Given the description of an element on the screen output the (x, y) to click on. 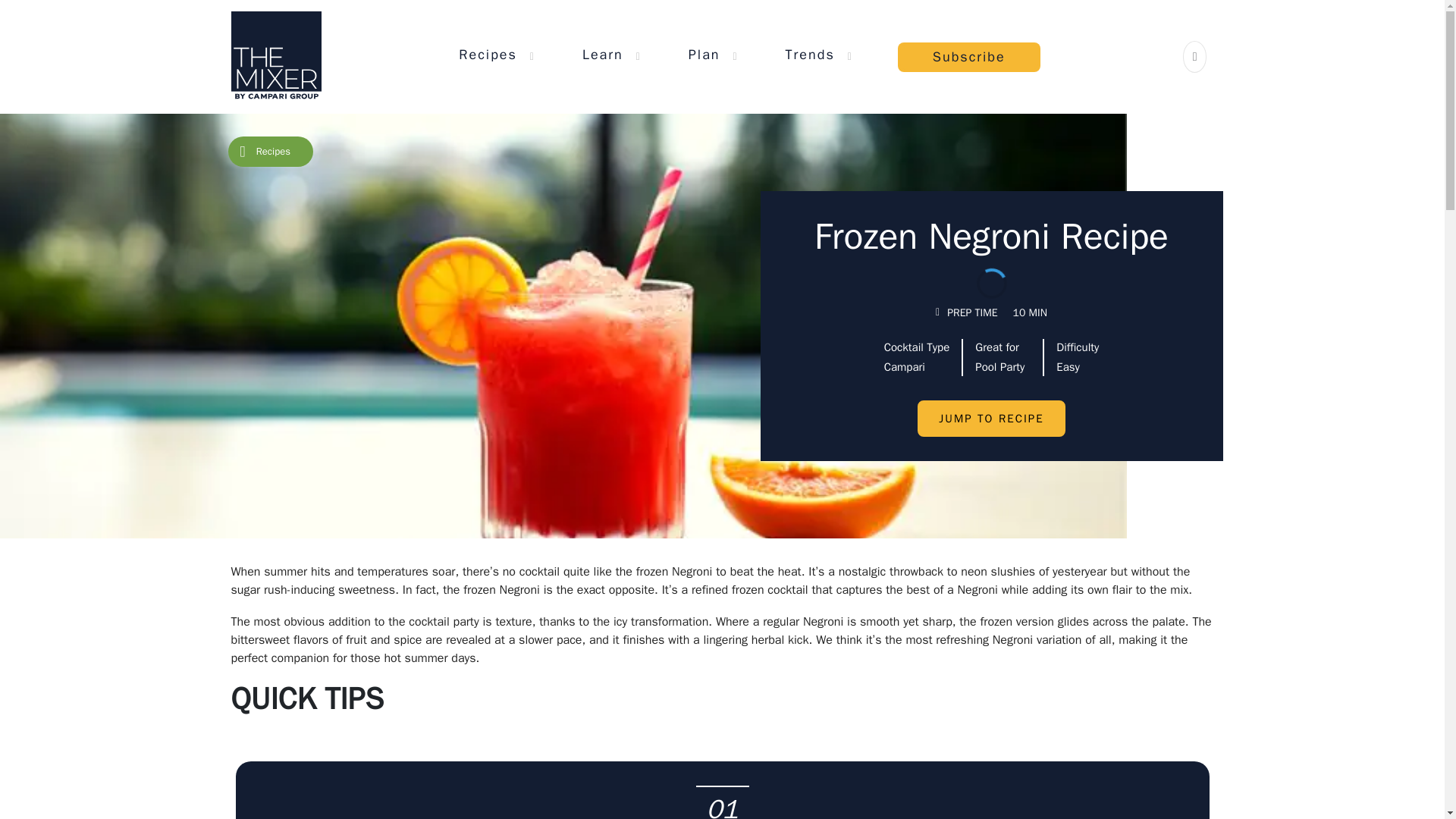
Learn (602, 53)
Recipes (487, 53)
Plan (704, 53)
The Mixer (275, 56)
The Mixer (275, 56)
Search Opener (1195, 56)
